Given the description of an element on the screen output the (x, y) to click on. 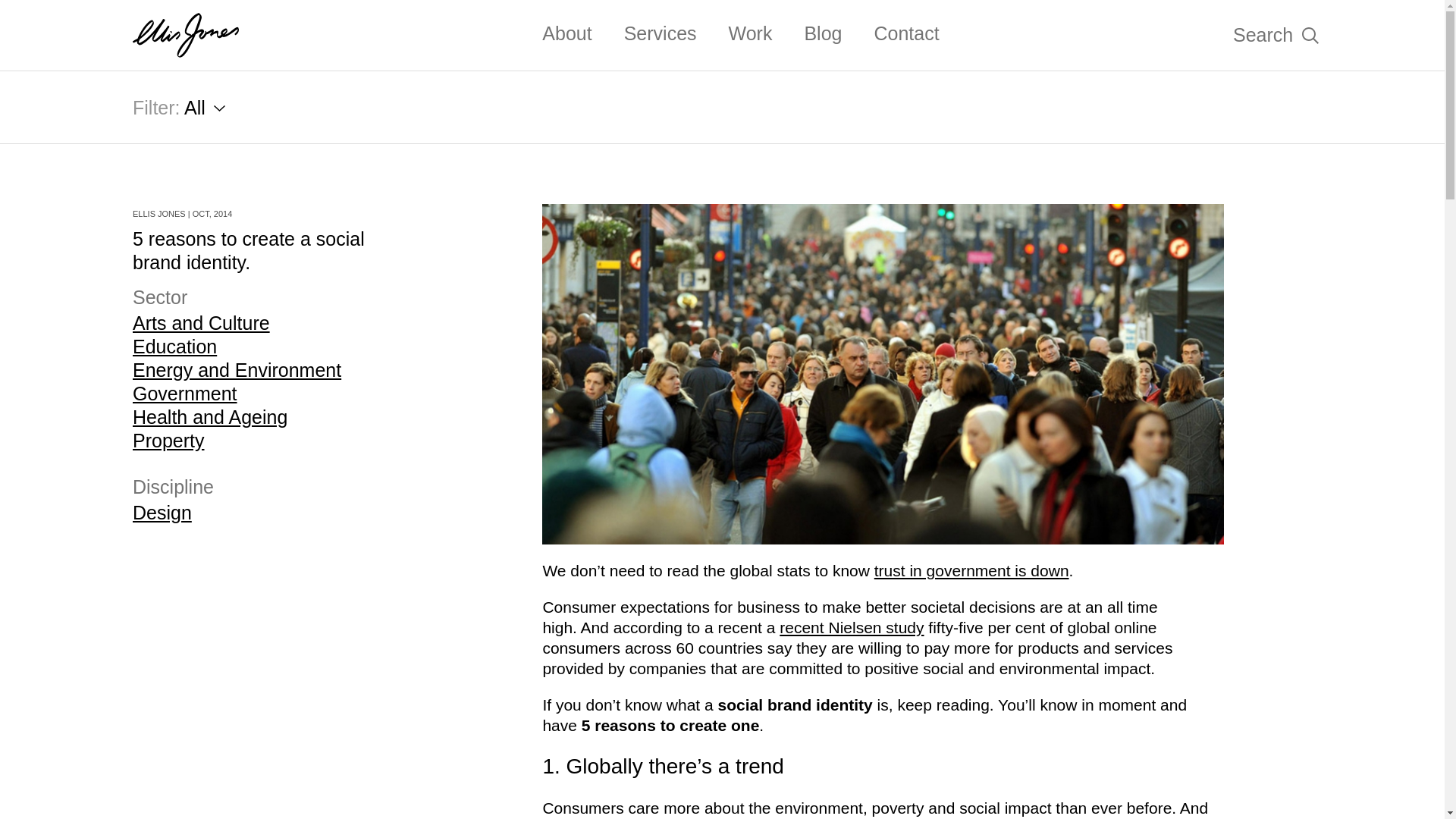
Work (751, 33)
Services (660, 33)
Blog (822, 33)
About (566, 33)
Search (1230, 35)
Search (1276, 35)
Contact (906, 33)
